Given the description of an element on the screen output the (x, y) to click on. 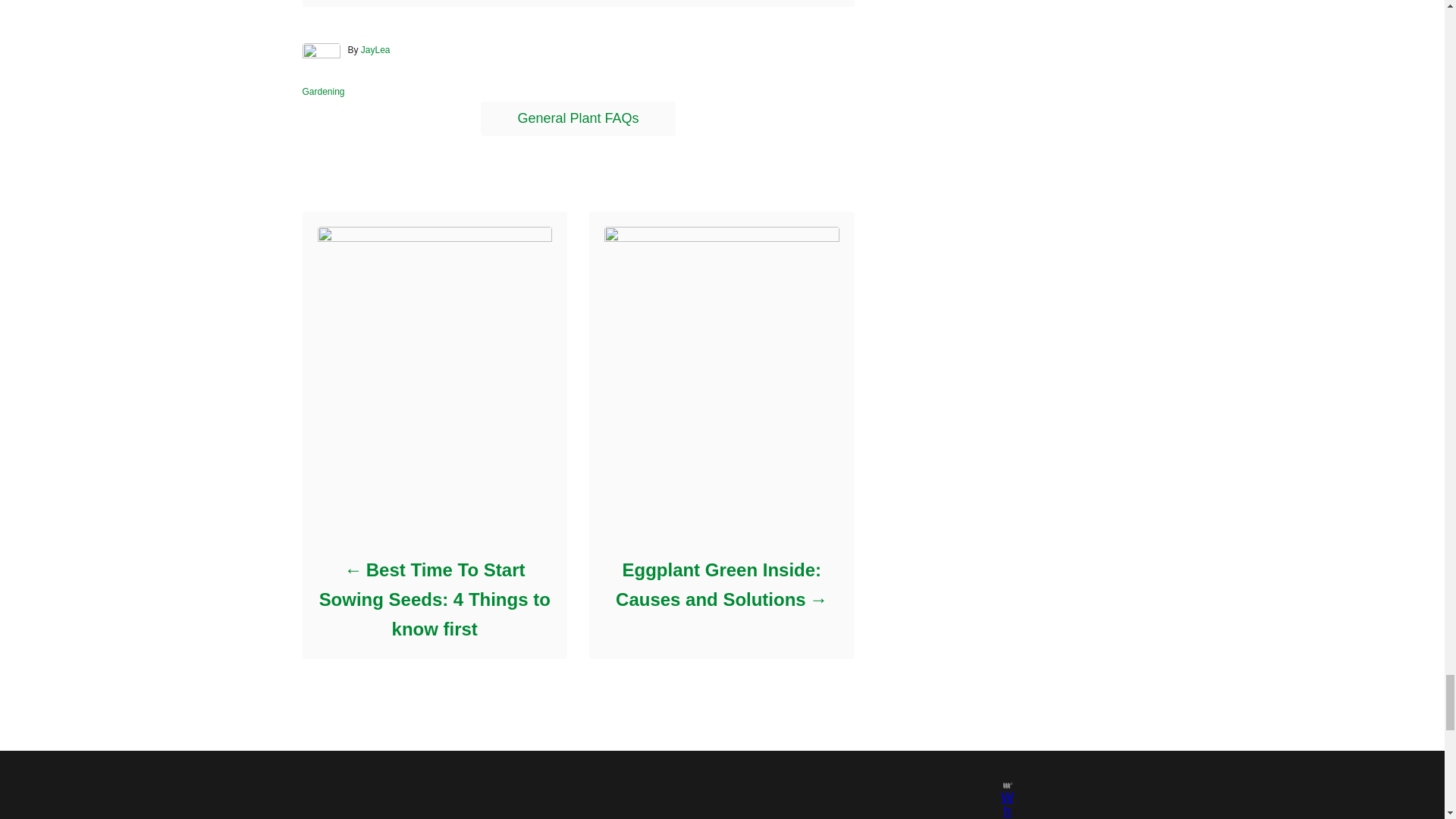
Best Time To Start Sowing Seeds: 4 Things to know first (434, 599)
JayLea (375, 50)
Gardening (322, 91)
General Plant FAQs (577, 118)
